Given the description of an element on the screen output the (x, y) to click on. 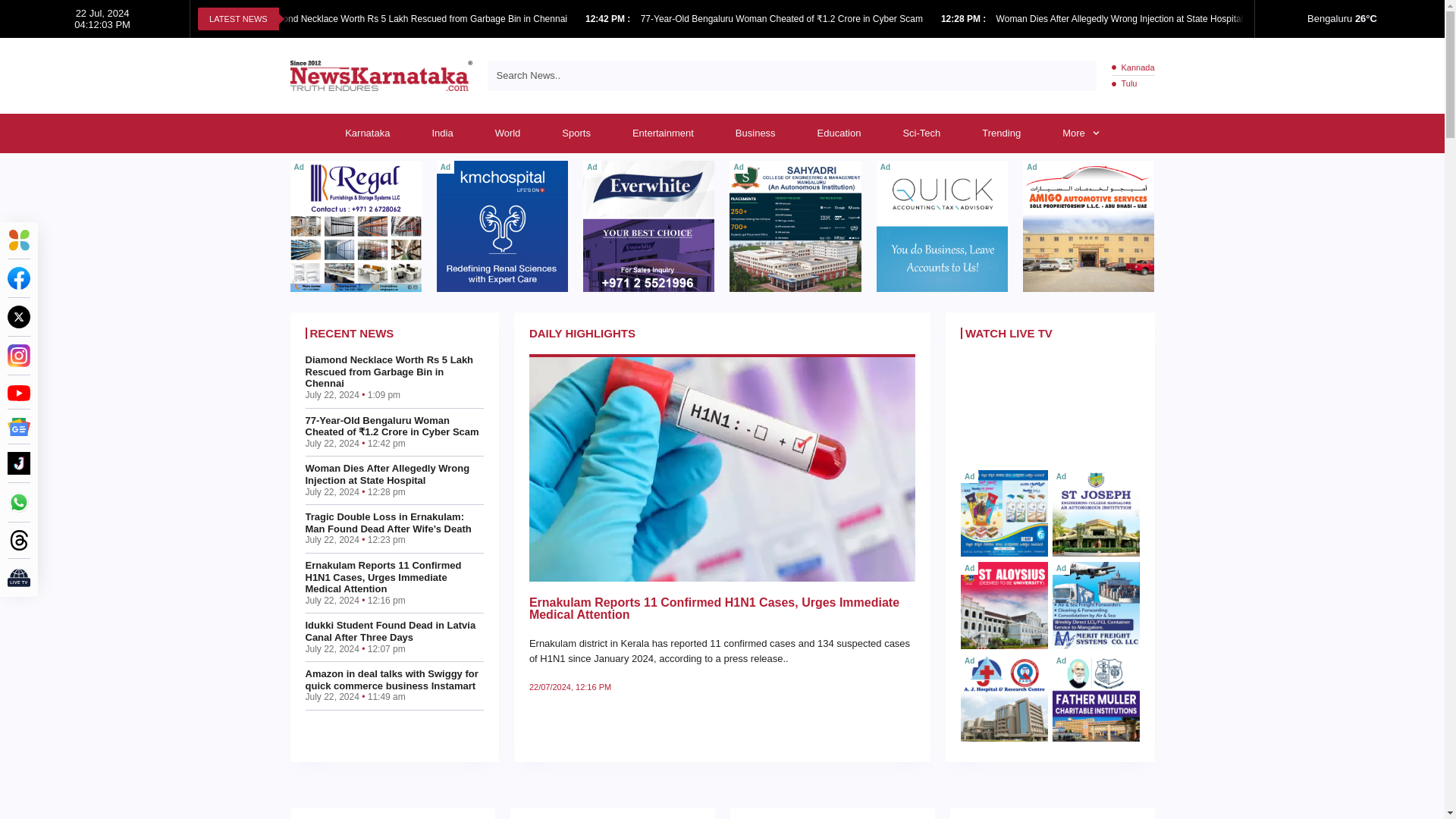
Published on: July 22, 2024 12:28 pm (964, 18)
Published on: July 22, 2024 12:42 pm (609, 18)
